Given the description of an element on the screen output the (x, y) to click on. 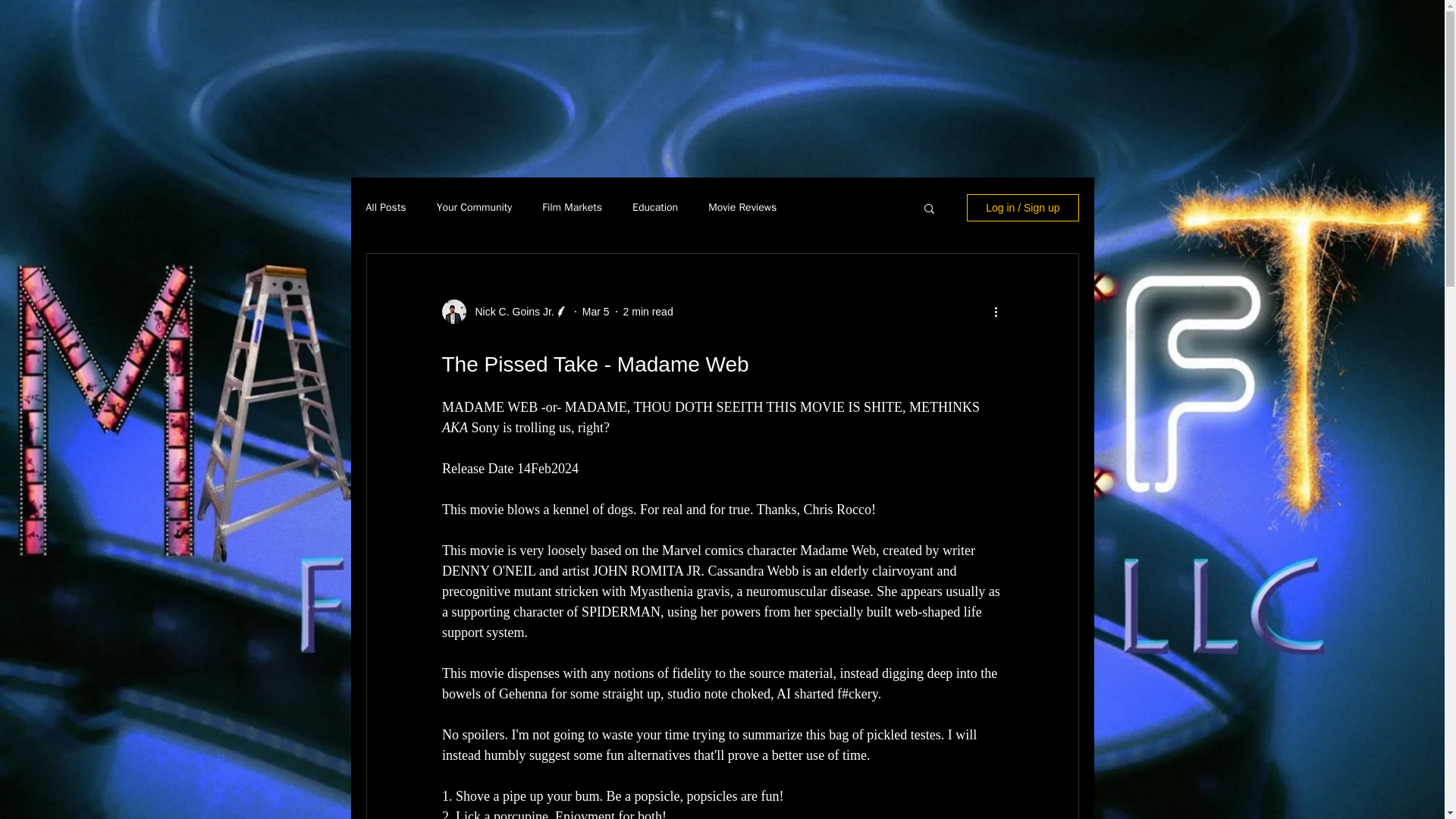
2 min read (647, 310)
Film Markets (571, 207)
All Posts (385, 207)
Nick C. Goins Jr.  (509, 311)
Mar 5 (596, 310)
Your Community (474, 207)
Movie Reviews (741, 207)
Education (654, 207)
